Given the description of an element on the screen output the (x, y) to click on. 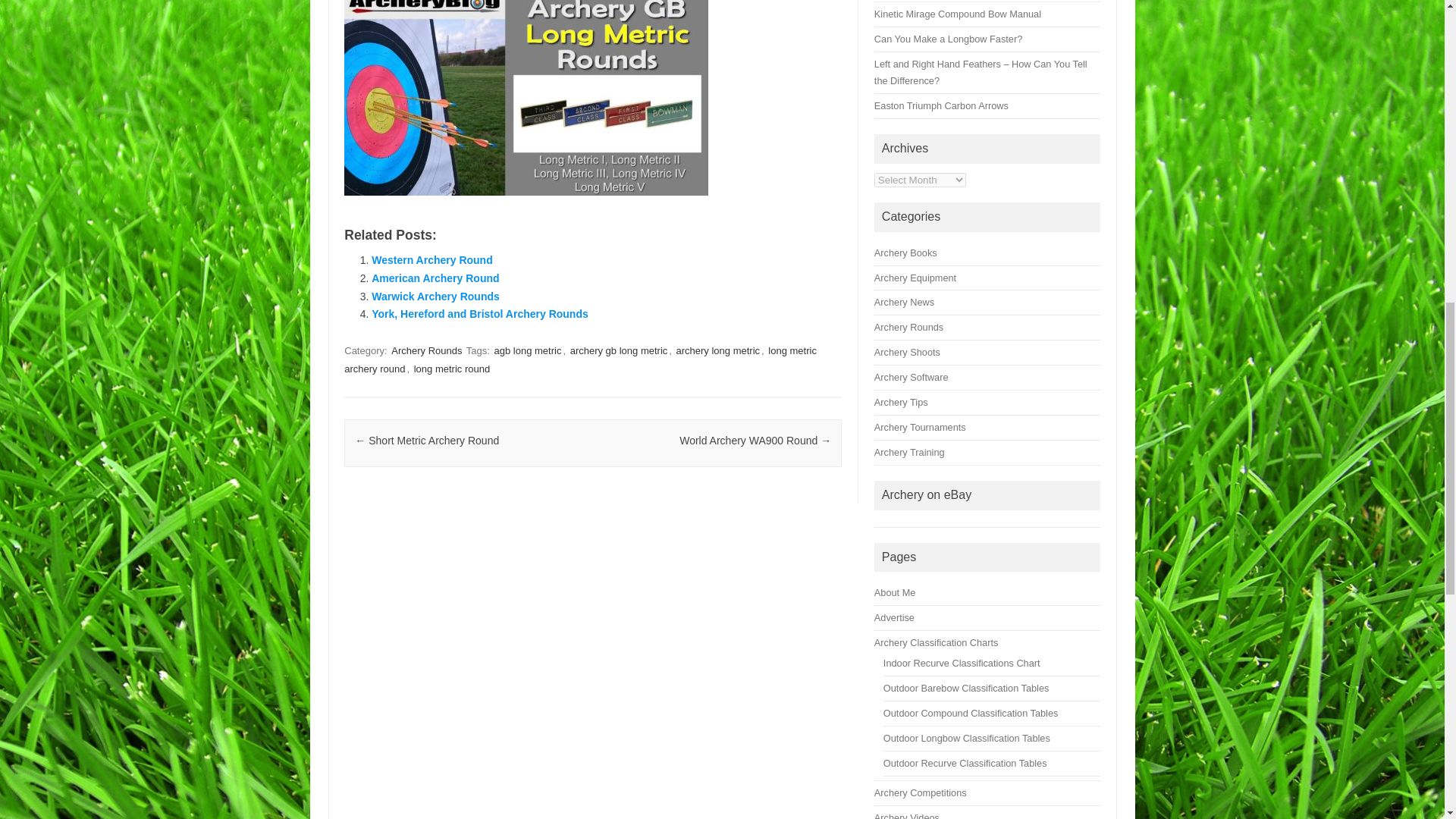
agb long metric (528, 350)
York, Hereford and Bristol Archery Rounds (479, 313)
Archery Rounds (426, 350)
American Archery Round (435, 277)
York, Hereford and Bristol Archery Rounds (479, 313)
Western Archery Round (431, 259)
Warwick Archery Rounds (435, 296)
Western Archery Round (431, 259)
Warwick Archery Rounds (435, 296)
archery long metric (718, 350)
